Given the description of an element on the screen output the (x, y) to click on. 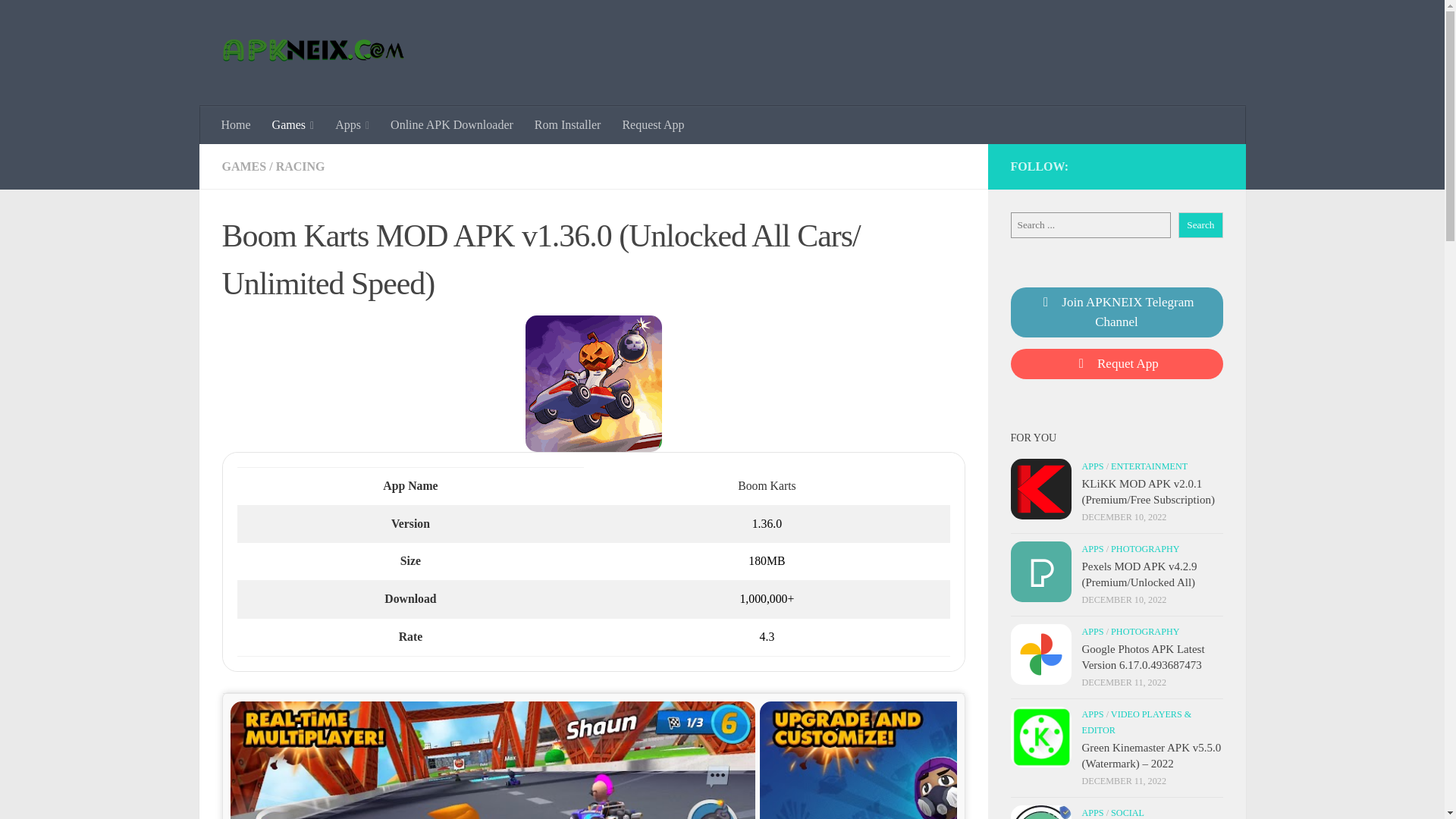
Skip to content (59, 20)
Home (236, 125)
Games (293, 125)
